Given the description of an element on the screen output the (x, y) to click on. 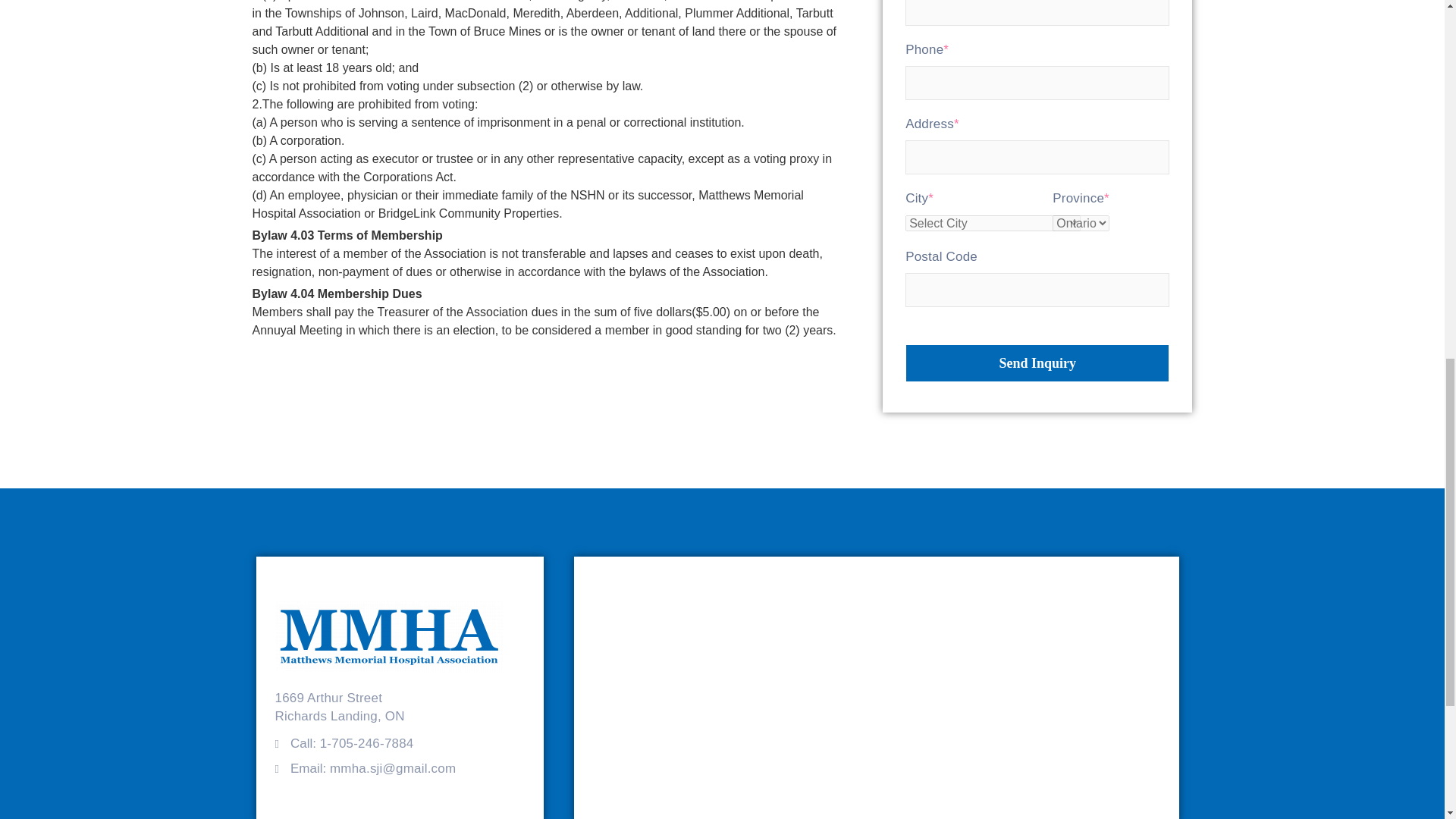
1180 Richards St, Richards Landing, ON P0R 1J0 (876, 689)
Send Inquiry (1037, 362)
Send Inquiry (1037, 362)
Call: 1-705-246-7884 (351, 743)
